Given the description of an element on the screen output the (x, y) to click on. 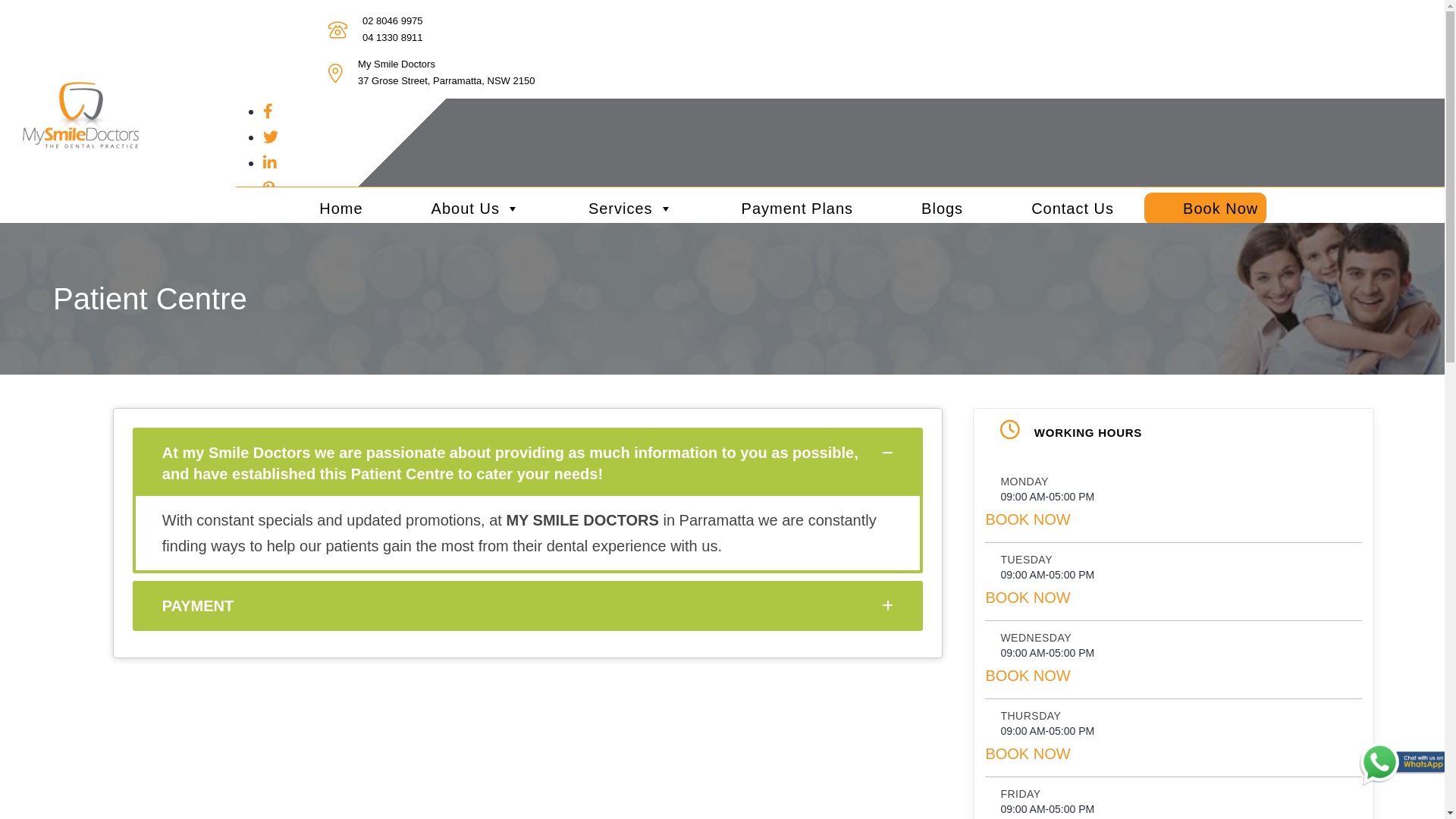
Contact Us Element type: text (1057, 208)
About Us Element type: text (460, 208)
04 1330 8911 Element type: text (392, 37)
Book Now Element type: text (1205, 208)
Blogs Element type: text (926, 208)
BOOK NOW Element type: text (1027, 597)
PAYMENT Element type: text (527, 605)
Home Element type: text (325, 208)
02 8046 9975 Element type: text (392, 20)
BOOK NOW Element type: text (1027, 675)
Payment Plans Element type: text (782, 208)
BOOK NOW Element type: text (1027, 519)
BOOK NOW Element type: text (1027, 753)
Services Element type: text (615, 208)
